Given the description of an element on the screen output the (x, y) to click on. 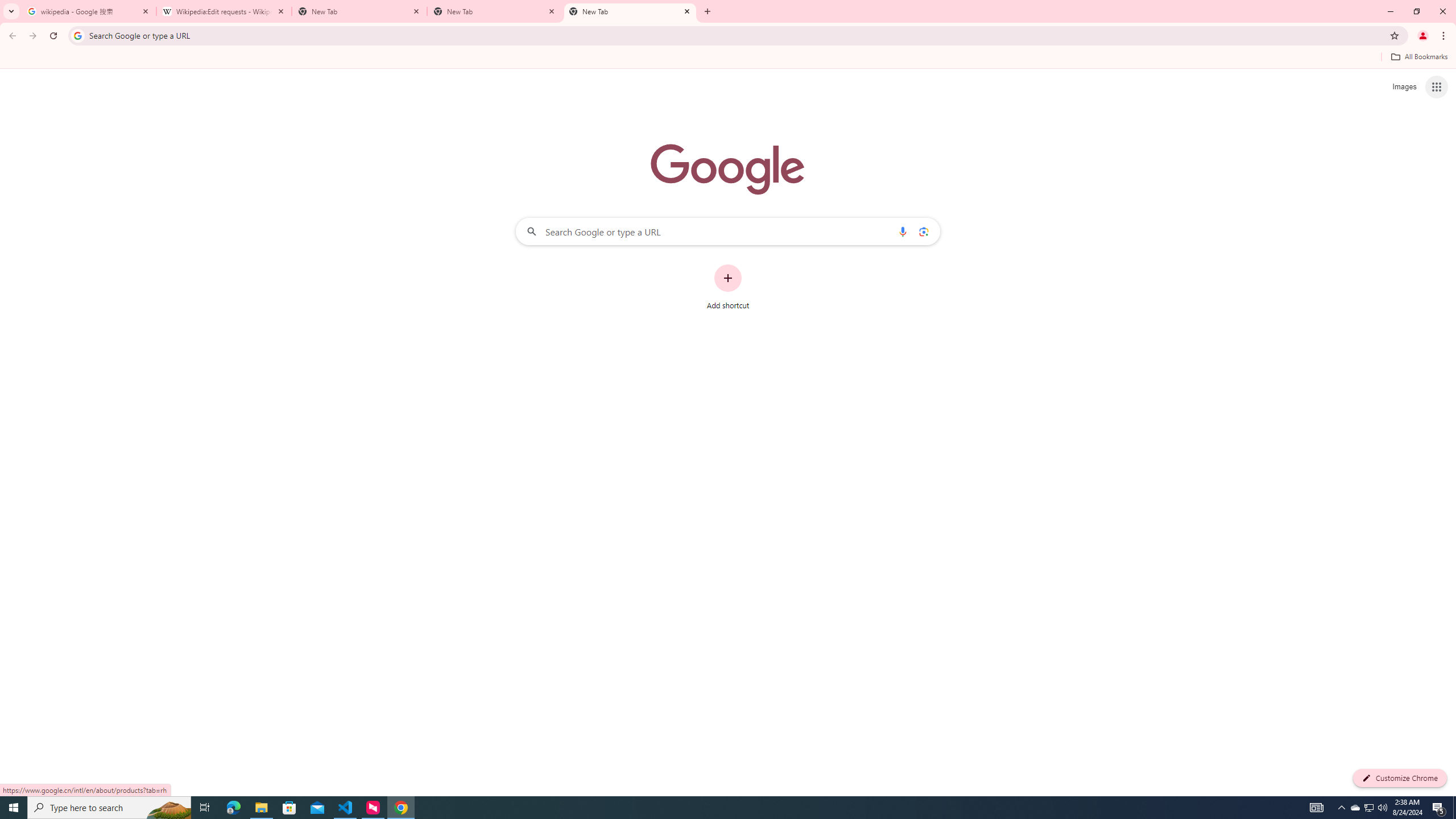
New Tab (359, 11)
Search for Images  (1403, 87)
Add shortcut (727, 287)
Search by image (922, 230)
Bookmarks (728, 58)
